Given the description of an element on the screen output the (x, y) to click on. 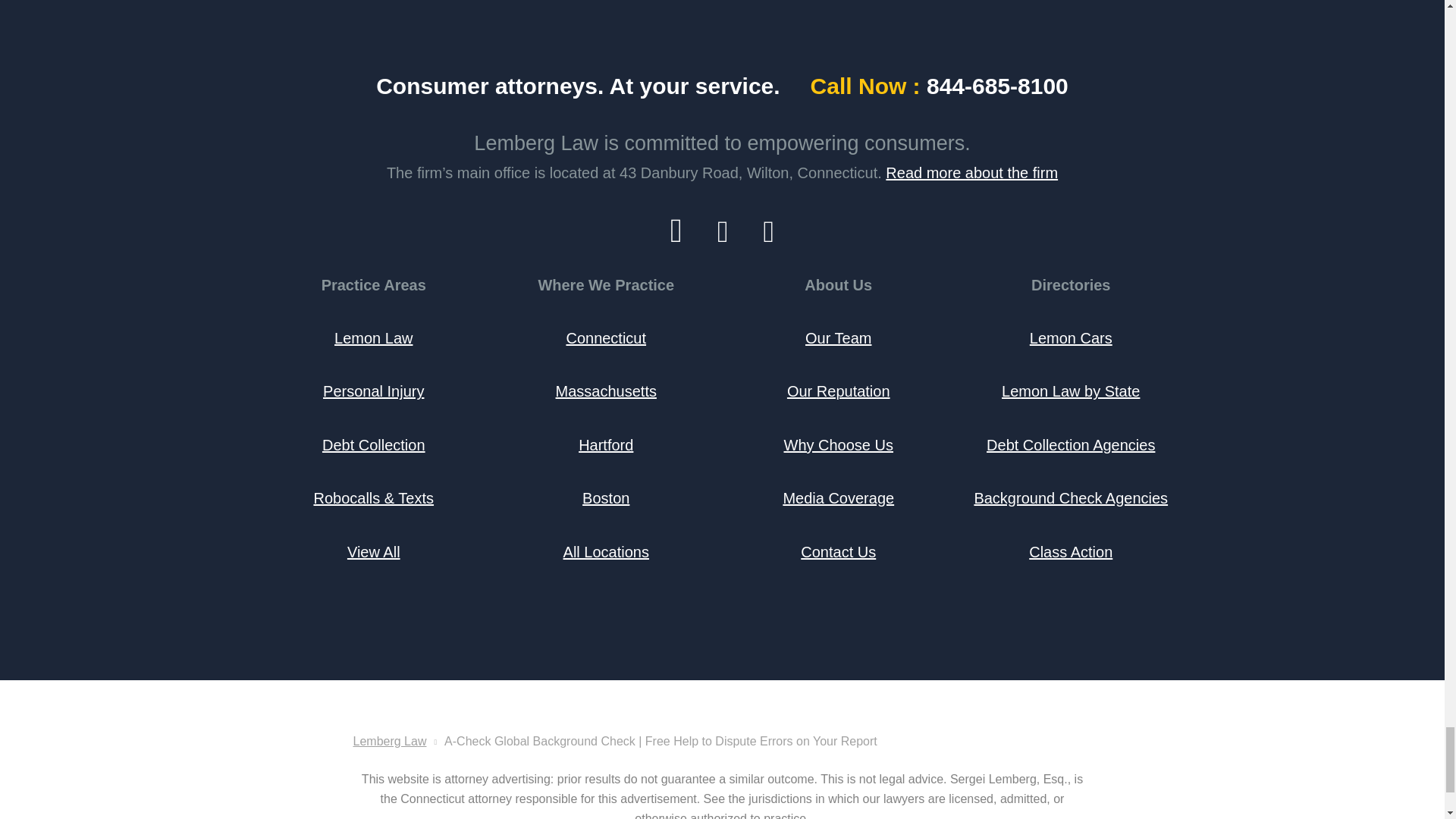
Go to Lemberg Law. (389, 740)
